Given the description of an element on the screen output the (x, y) to click on. 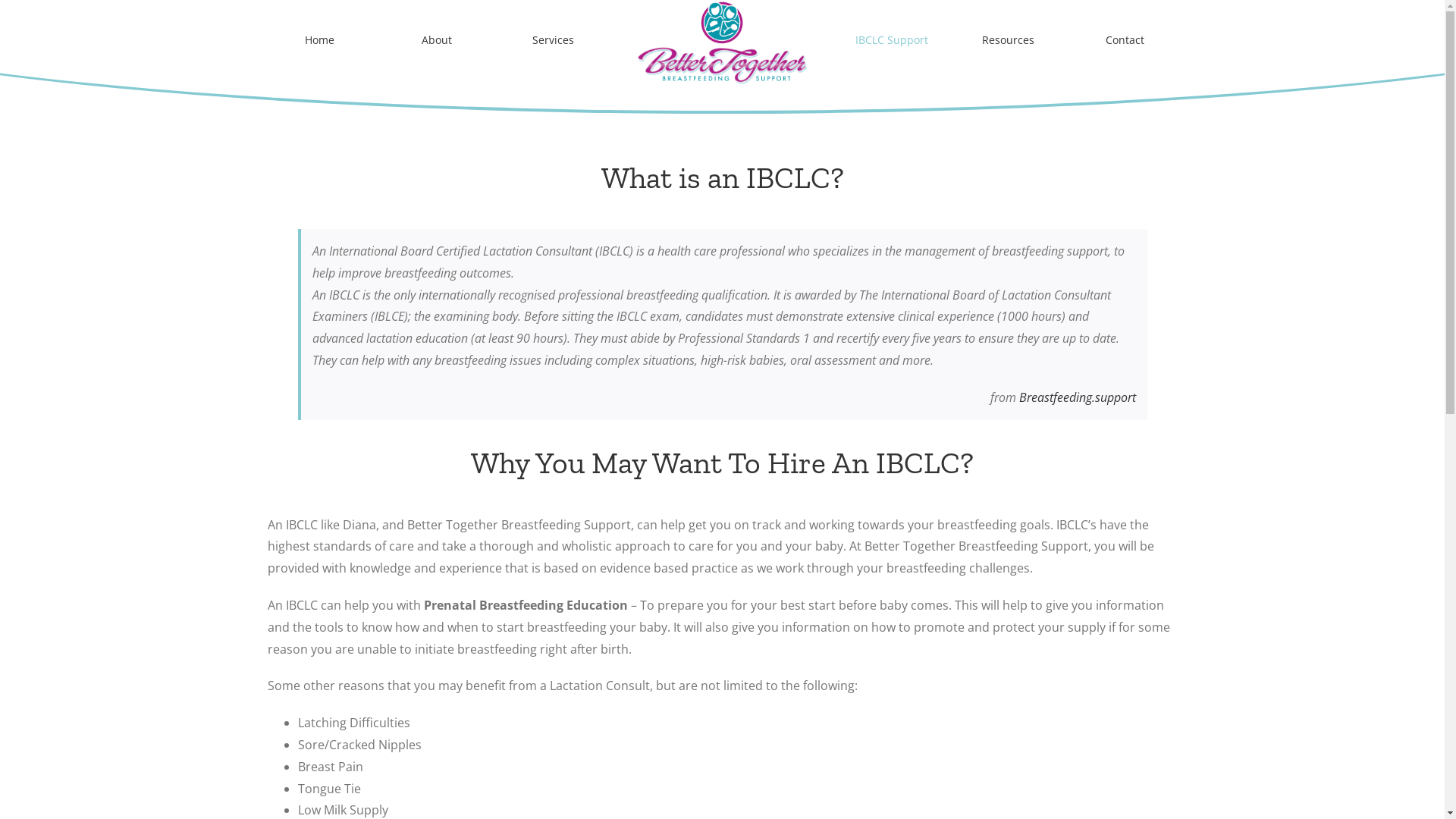
Contact Element type: text (1124, 40)
Breastfeeding.support Element type: text (1077, 397)
Home Element type: text (318, 40)
Services Element type: text (552, 40)
About Element type: text (435, 40)
IBCLC Support Element type: text (890, 40)
Resources Element type: text (1007, 40)
